Given the description of an element on the screen output the (x, y) to click on. 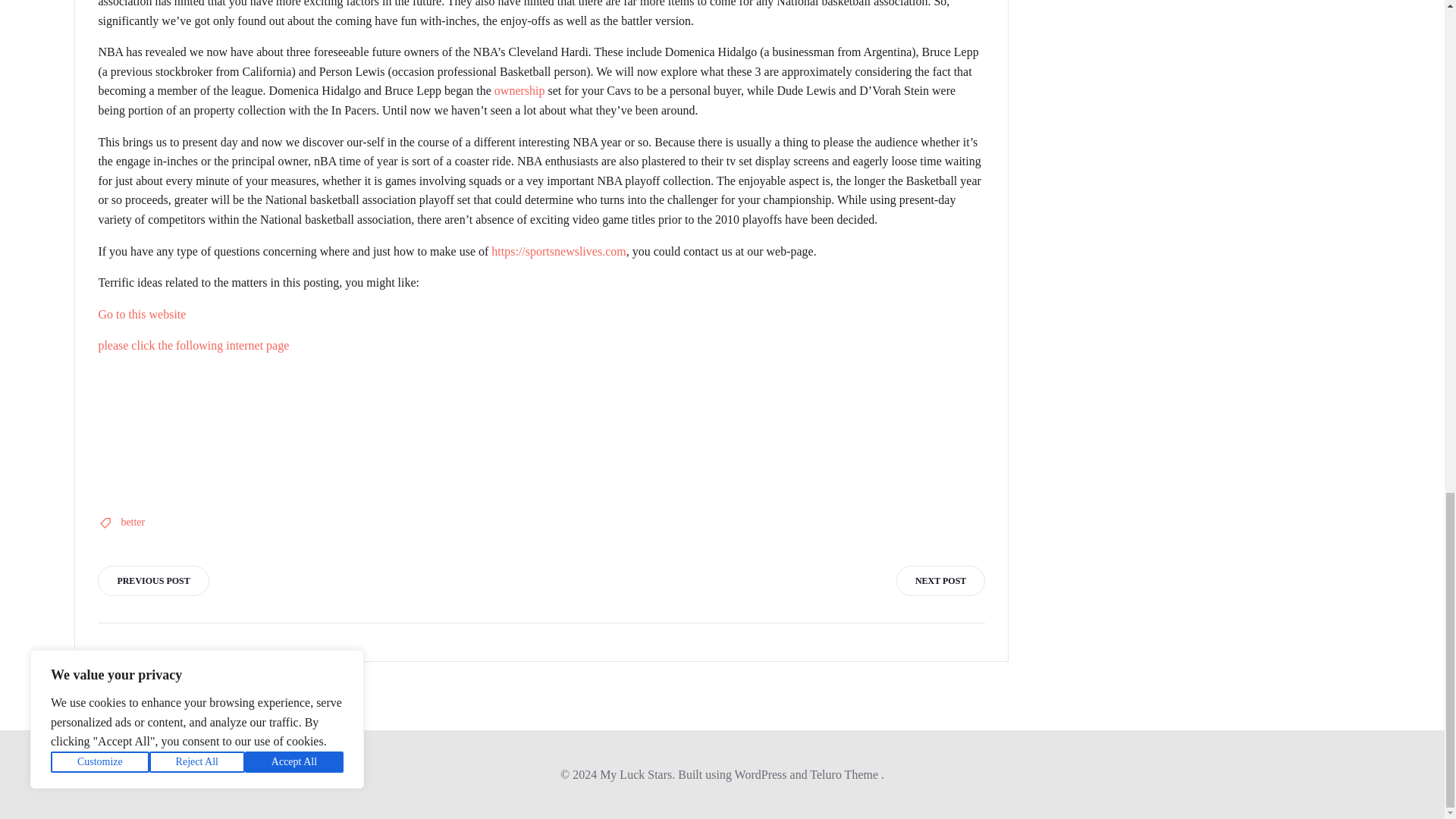
Go to this website (141, 314)
please click the following internet page (192, 345)
better (132, 522)
NEXT POST (940, 580)
PREVIOUS POST (152, 580)
Tag: better (132, 522)
ownership (519, 90)
